Given the description of an element on the screen output the (x, y) to click on. 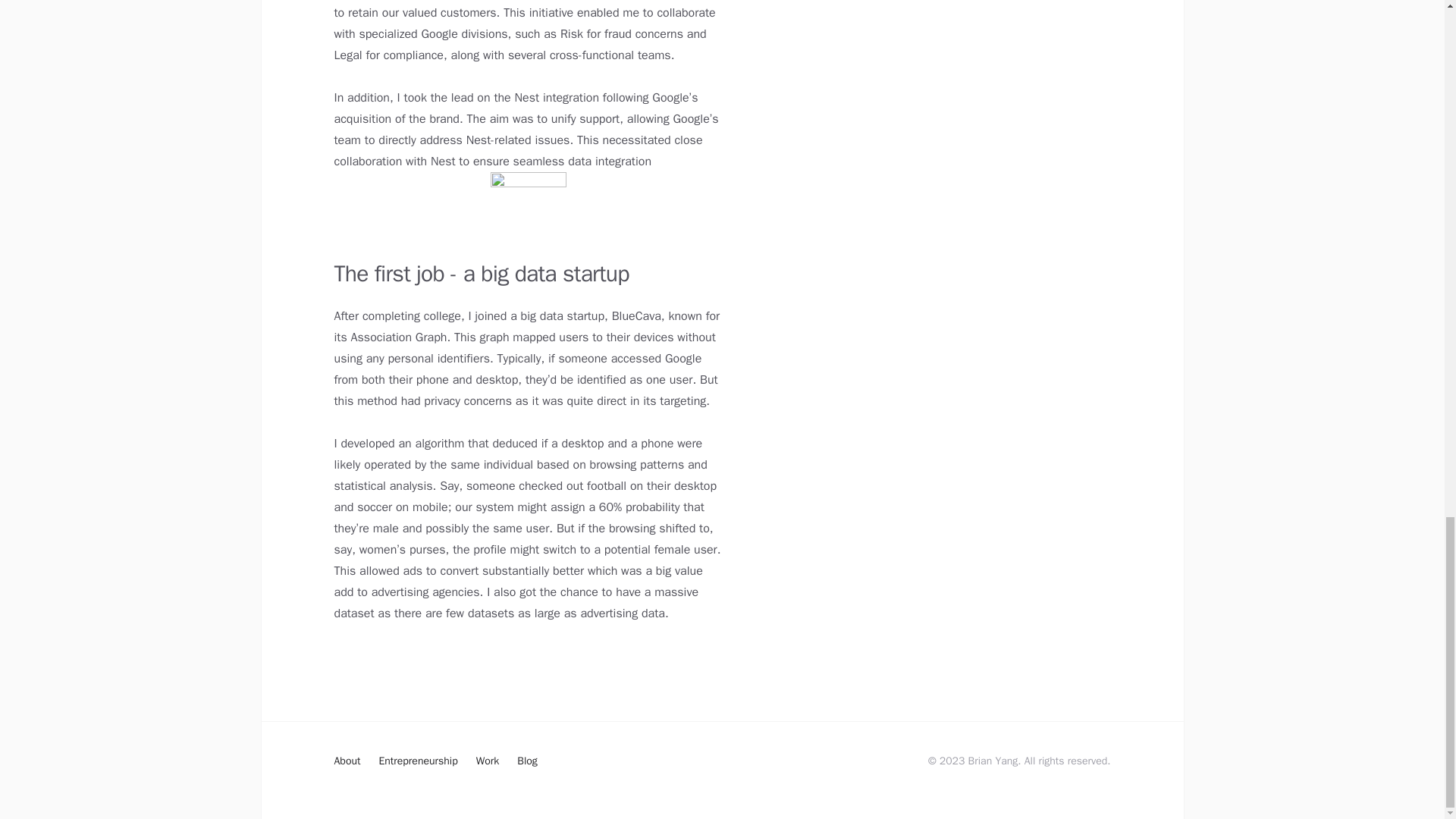
Work (487, 761)
Entrepreneurship (417, 761)
Blog (526, 761)
About (346, 761)
